Given the description of an element on the screen output the (x, y) to click on. 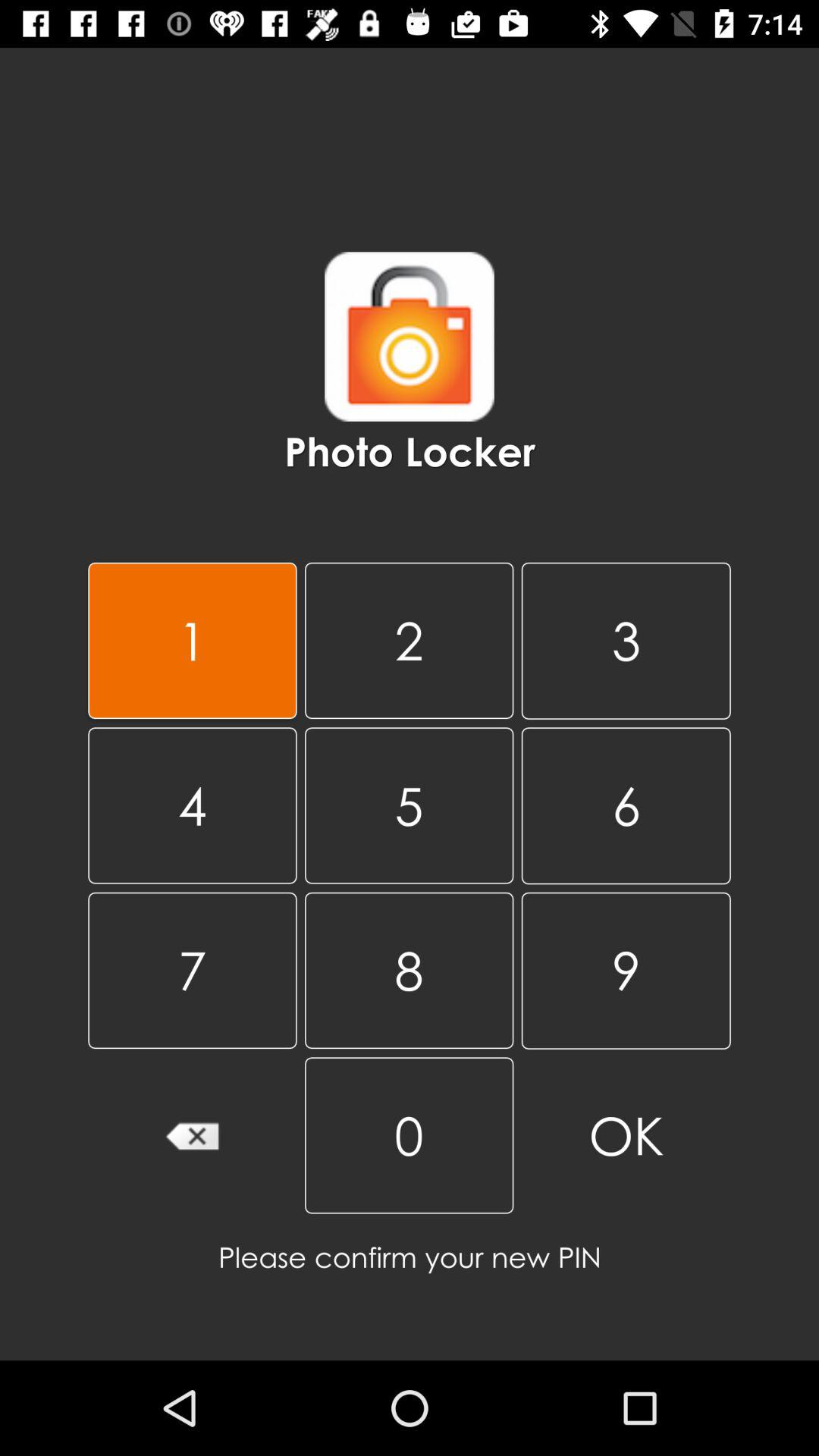
delete the entered input (192, 1135)
